Given the description of an element on the screen output the (x, y) to click on. 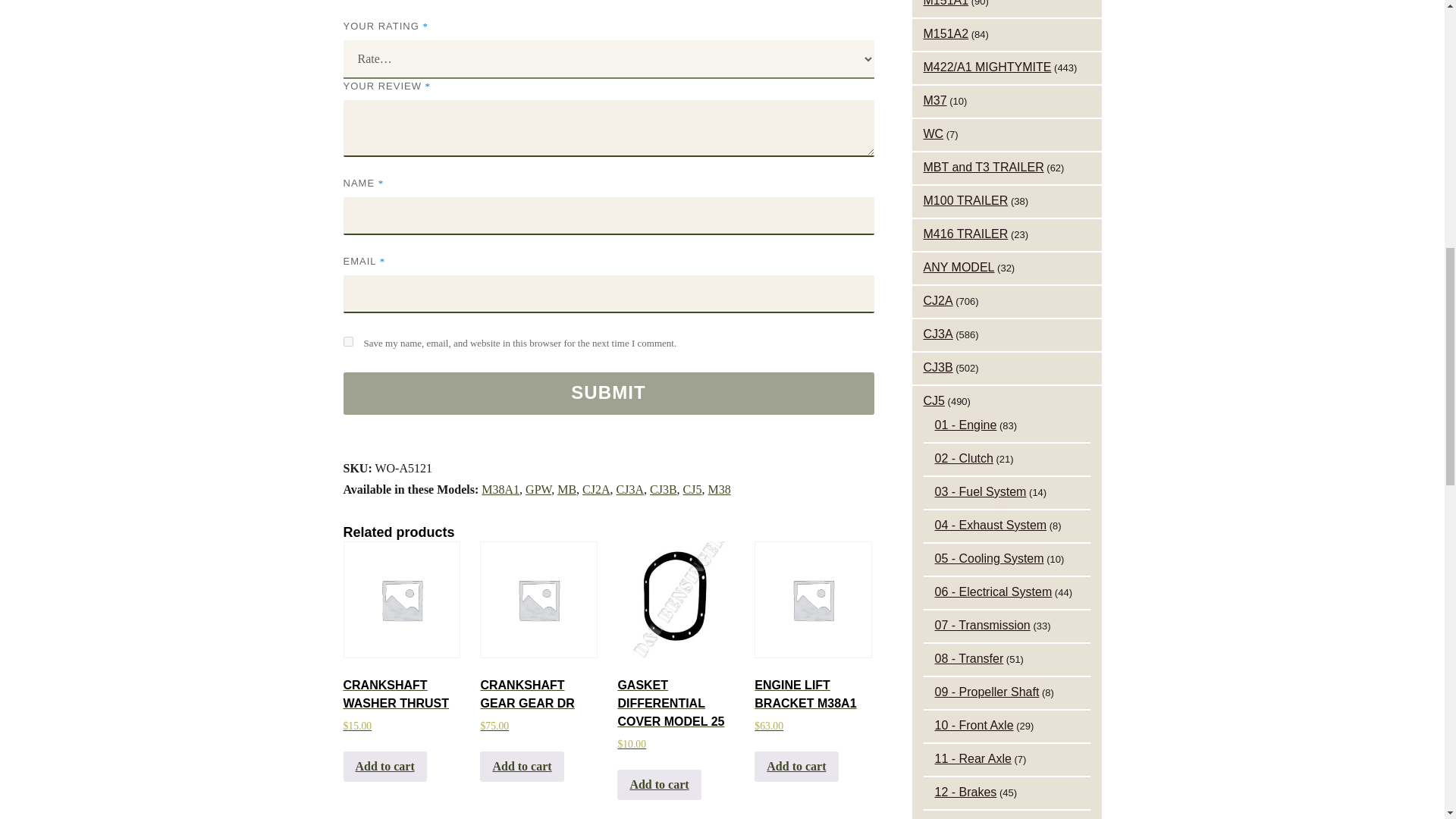
Add to cart (384, 766)
CJ3A (629, 489)
Add to cart (658, 784)
GASKET DIFFERENTIAL COVER MODEL 25 (675, 599)
Submit (607, 393)
CJ5 (691, 489)
yes (347, 341)
MB (566, 489)
Add to cart (521, 766)
Add to cart (796, 766)
